Given the description of an element on the screen output the (x, y) to click on. 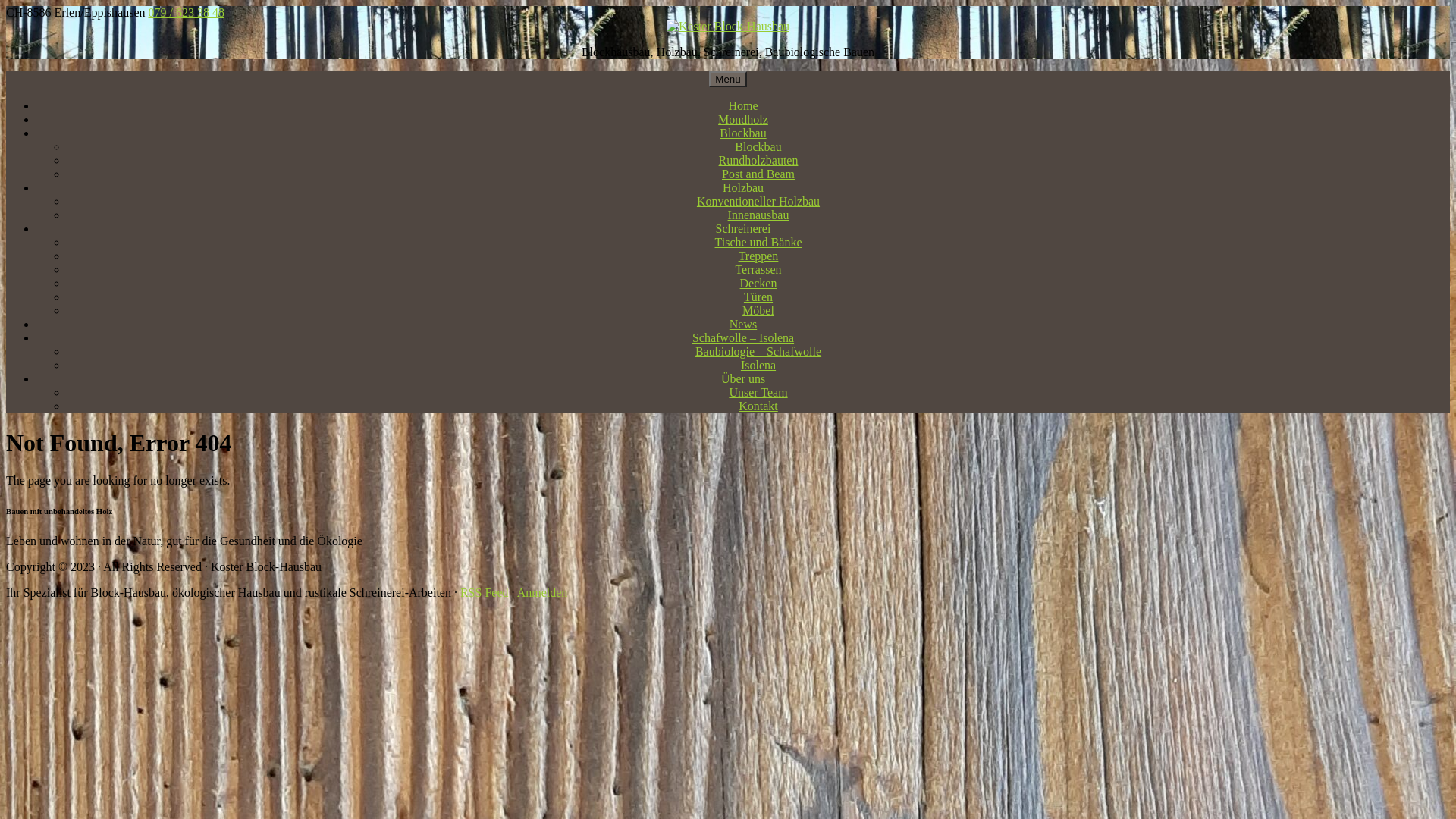
Decken Element type: text (758, 282)
Holzbau Element type: text (742, 187)
News Element type: text (742, 323)
Konventioneller Holzbau Element type: text (757, 200)
Isolena Element type: text (757, 364)
Post and Beam Element type: text (757, 173)
Menu Element type: text (727, 79)
Home Element type: text (742, 105)
Anmelden Element type: text (542, 592)
Rundholzbauten Element type: text (758, 159)
Blockbau Element type: text (757, 146)
Blockbau Element type: text (742, 132)
079 / 623 38 48 Element type: text (186, 12)
Treppen Element type: text (758, 255)
Mondholz Element type: text (743, 118)
Kontakt Element type: text (758, 405)
RSS Feed Element type: text (484, 592)
Unser Team Element type: text (757, 391)
Schreinerei Element type: text (743, 228)
Innenausbau Element type: text (758, 214)
Terrassen Element type: text (757, 269)
